Given the description of an element on the screen output the (x, y) to click on. 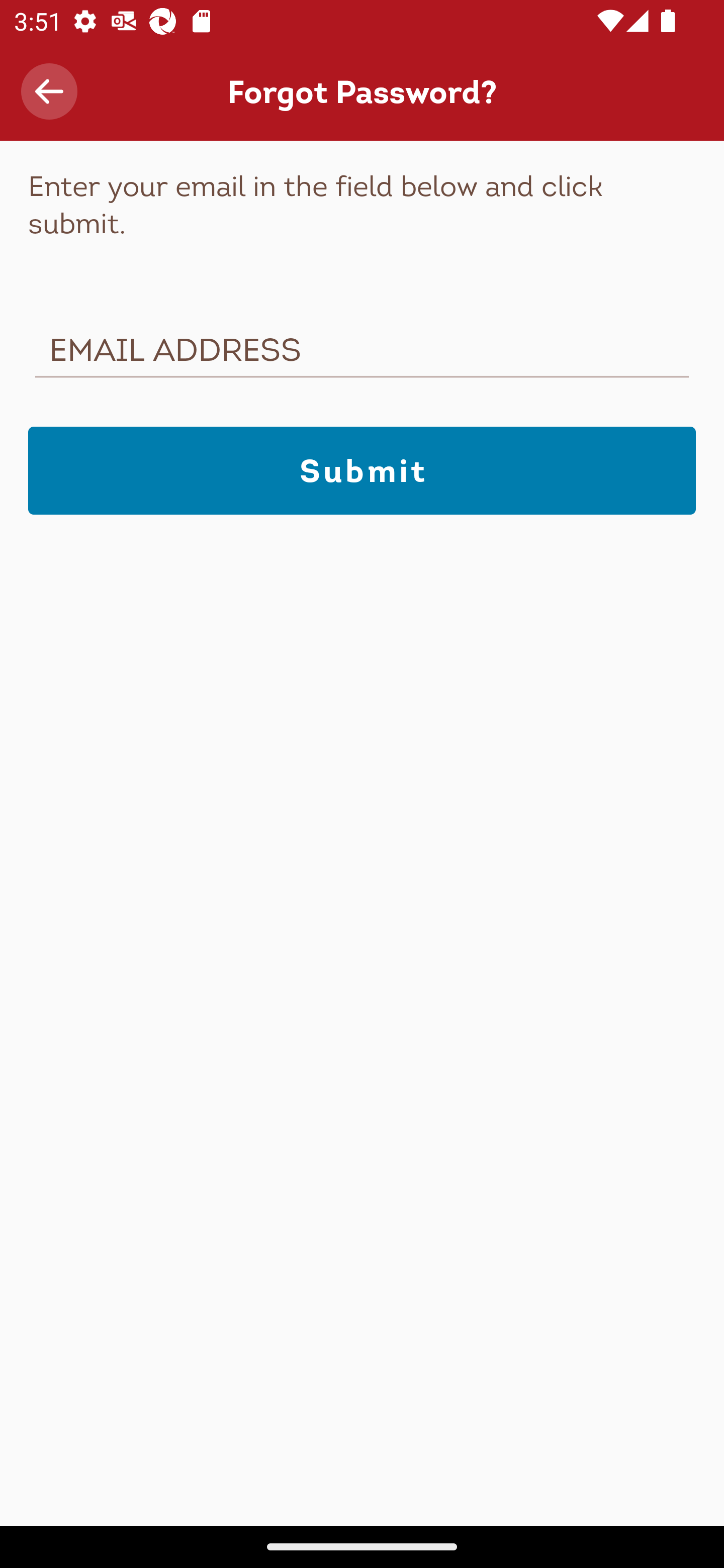
Back (49, 91)
EMAIL ADDRESS (361, 354)
Submit (361, 470)
